Given the description of an element on the screen output the (x, y) to click on. 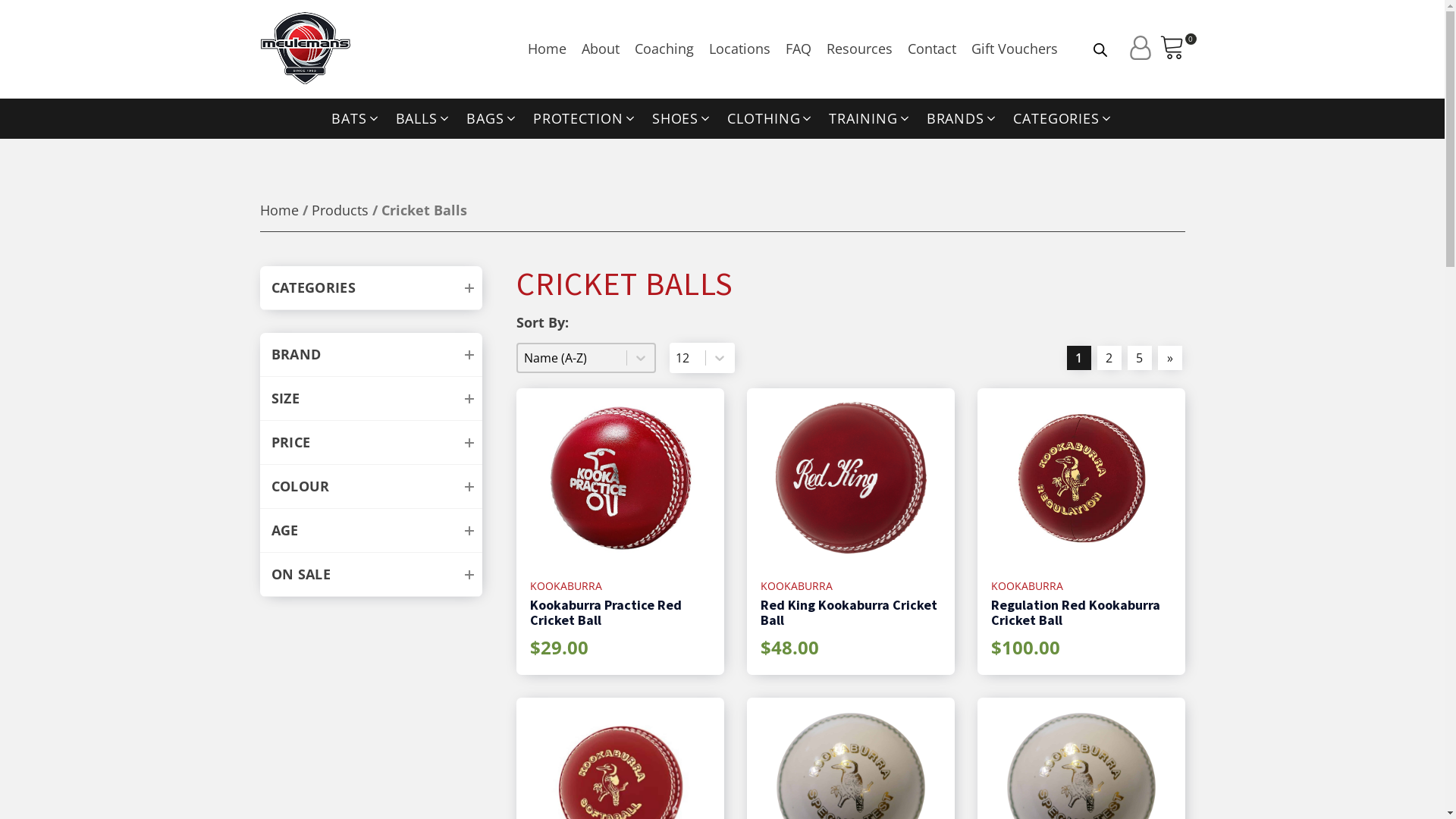
Regulation Red Kookaburra Cricket Ball Element type: text (1081, 609)
0 Element type: text (1171, 48)
Kookaburra Practice Red Cricket Ball Element type: text (620, 609)
KOOKABURRA Element type: text (796, 586)
2 Element type: text (1108, 357)
CATEGORIES Element type: text (1062, 118)
PROTECTION Element type: text (584, 118)
FAQ Element type: text (798, 48)
BRANDS Element type: text (962, 118)
Contact Element type: text (931, 48)
1 Element type: text (1078, 357)
TRAINING Element type: text (869, 118)
Red King Kookaburra Cricket Ball Element type: text (850, 609)
Locations Element type: text (738, 48)
Gift Vouchers Element type: text (1013, 48)
BALLS Element type: text (423, 118)
BATS Element type: text (355, 118)
BAGS Element type: text (491, 118)
About Element type: text (599, 48)
Products Element type: text (338, 209)
KOOKABURRA Element type: text (1027, 586)
Home Element type: text (278, 209)
Resources Element type: text (859, 48)
SHOES Element type: text (682, 118)
Coaching Element type: text (663, 48)
CLOTHING Element type: text (770, 118)
KOOKABURRA Element type: text (566, 586)
5 Element type: text (1138, 357)
Home Element type: text (547, 48)
